Given the description of an element on the screen output the (x, y) to click on. 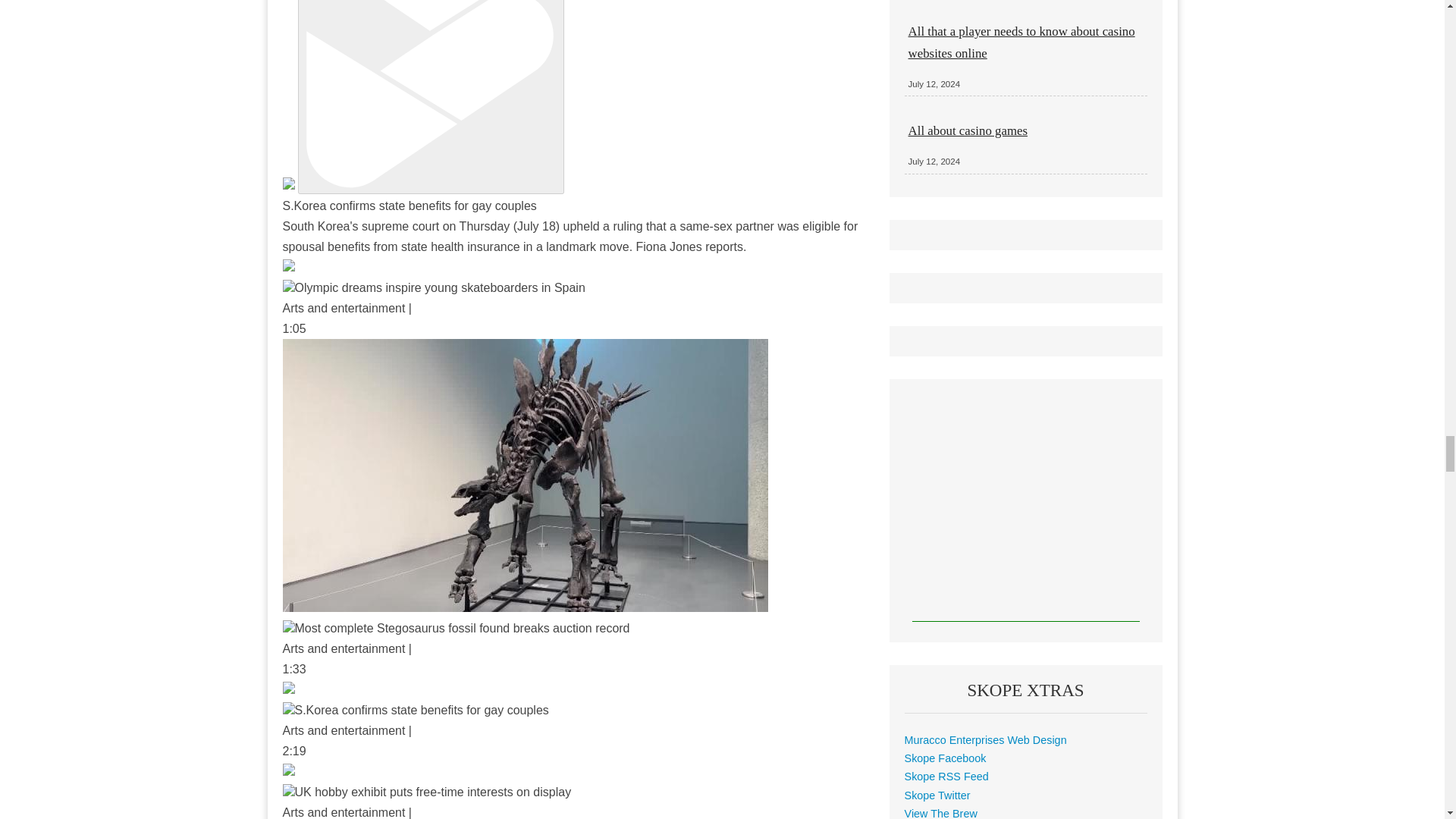
Skopemag.com RSS Feed (946, 776)
